Given the description of an element on the screen output the (x, y) to click on. 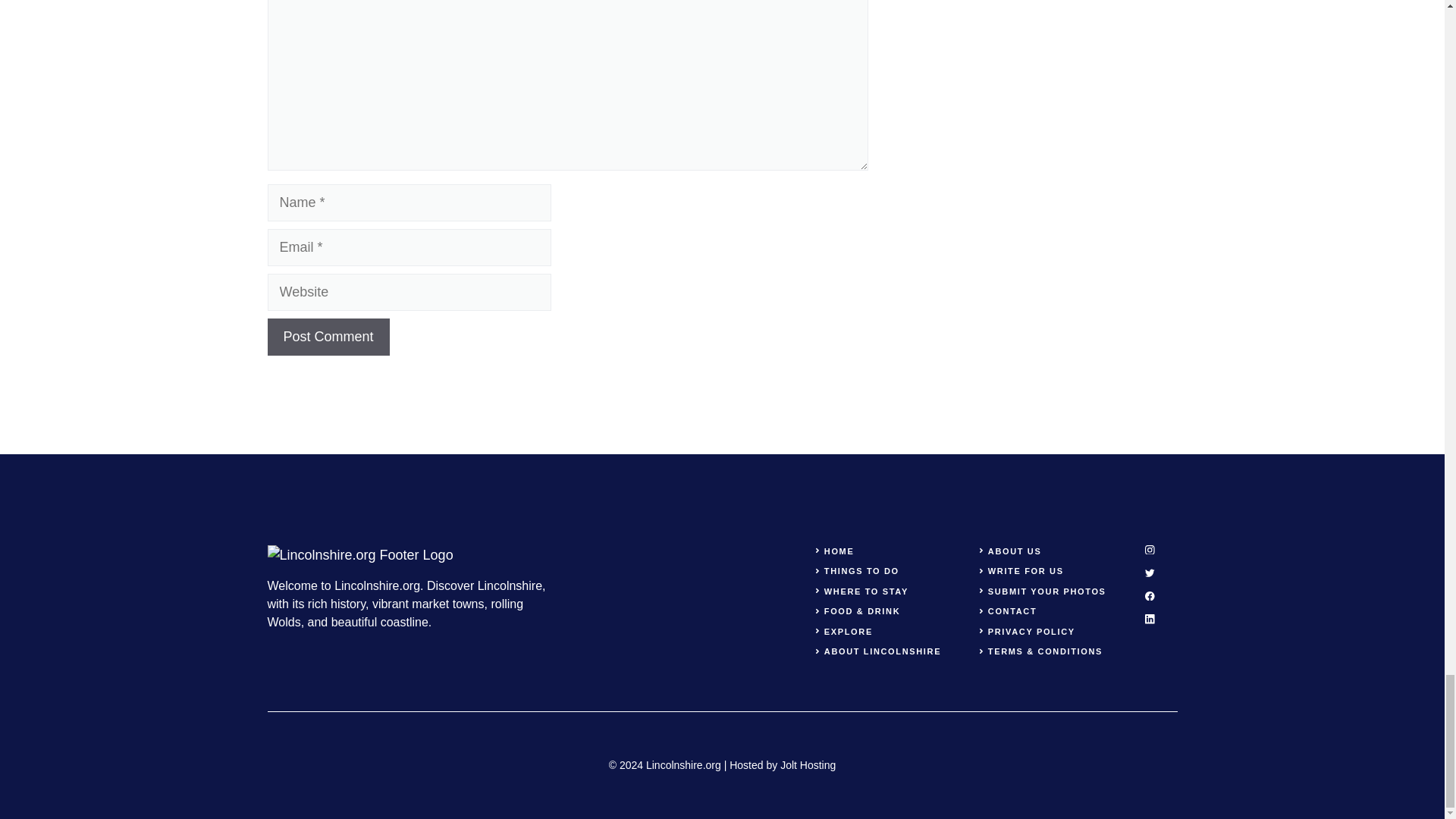
Lincolshire-org-footer-logo (359, 555)
Post Comment (327, 336)
Post Comment (327, 336)
